Given the description of an element on the screen output the (x, y) to click on. 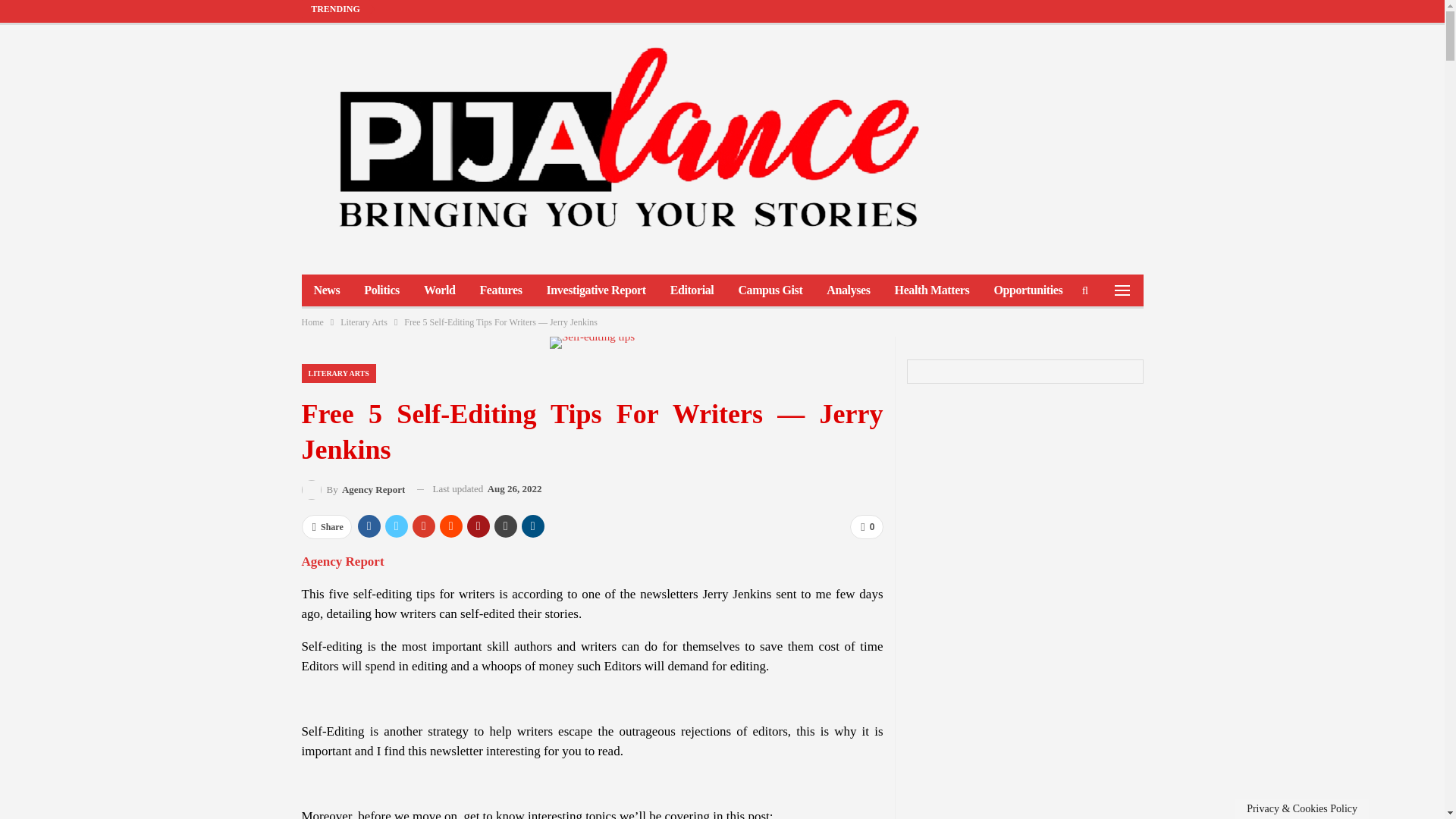
World (439, 290)
Features (500, 290)
Literary Arts (363, 321)
Health Matters (931, 290)
Browse Author Articles (353, 489)
Politics (382, 290)
News (326, 290)
Campus Gist (769, 290)
Home (312, 321)
Investigative Report (596, 290)
